Given the description of an element on the screen output the (x, y) to click on. 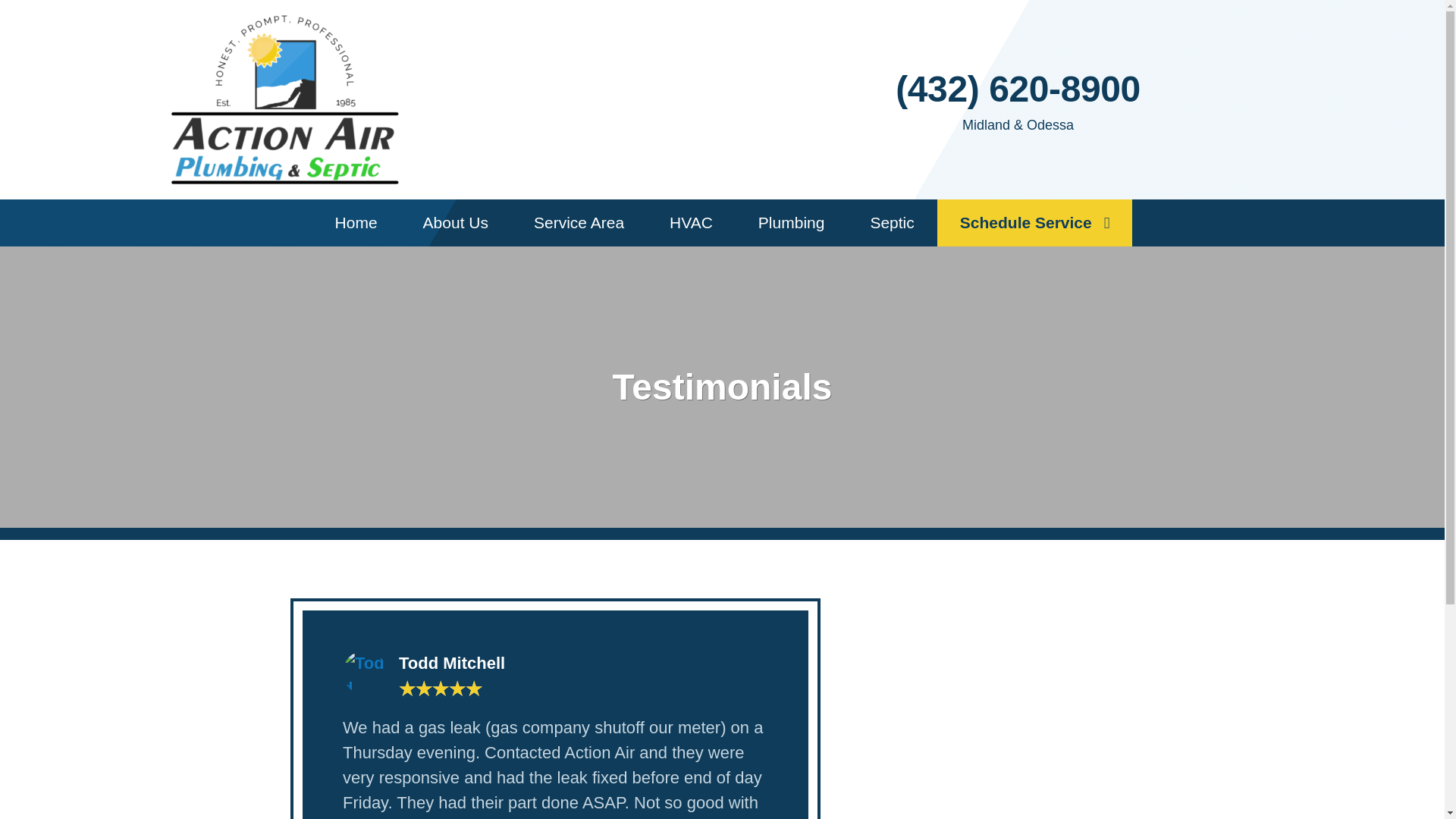
Home (356, 222)
Septic (891, 222)
HVAC (690, 222)
Service Area (578, 222)
Plumbing (791, 222)
About Us (455, 222)
